Given the description of an element on the screen output the (x, y) to click on. 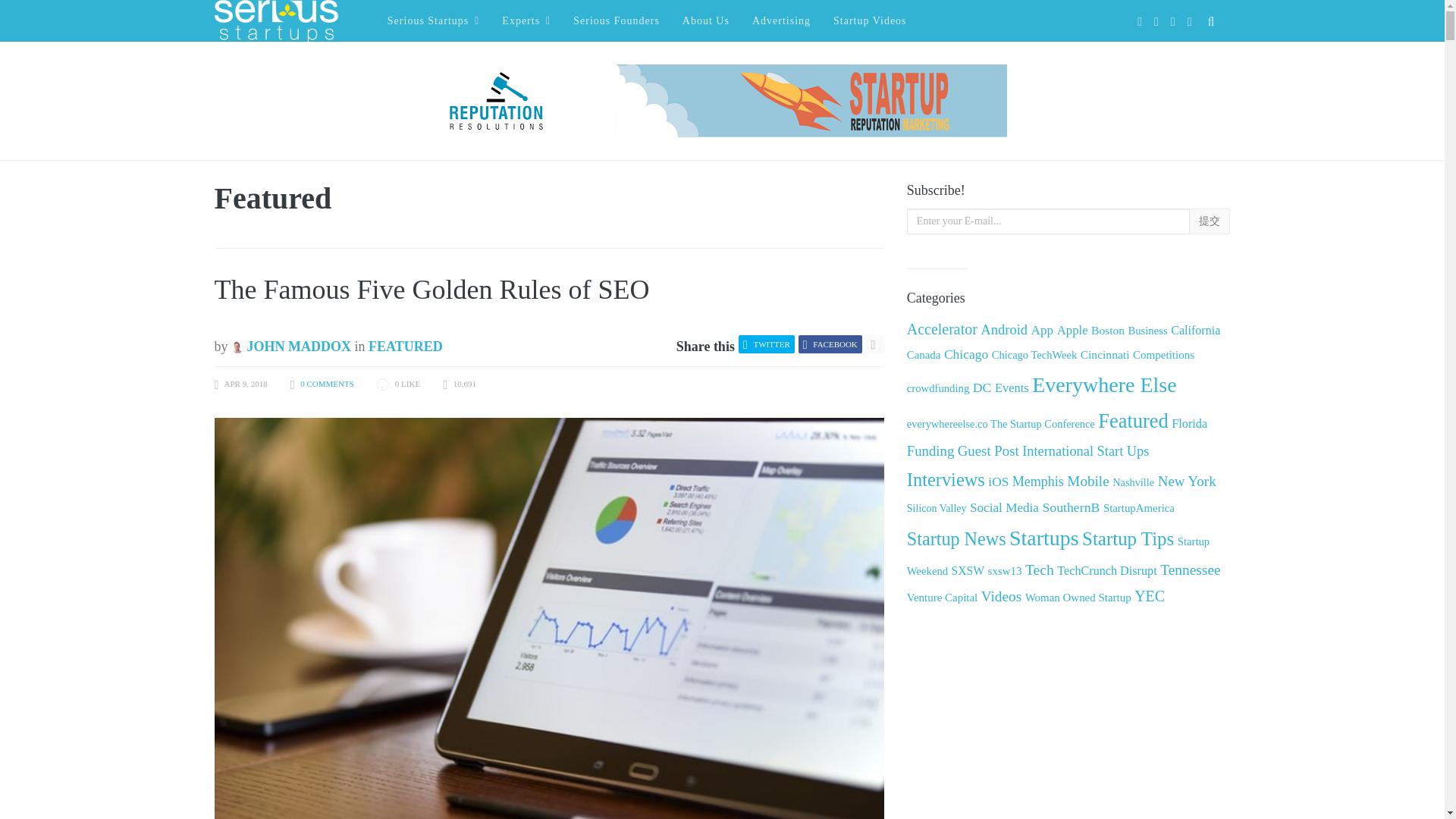
JOHN MADDOX (290, 346)
The Famous Five Golden Rules of SEO (431, 289)
0 COMMENTS (326, 383)
Serious Founders (616, 20)
Experts (526, 20)
Serious Startups (433, 20)
FEATURED (405, 346)
More (874, 343)
Startup Videos (869, 20)
The Famous Five Golden Rules of SEO (431, 289)
View all posts in Featured (405, 346)
View all posts by John Maddox (290, 346)
About Us (705, 20)
Advertising (781, 20)
